Given the description of an element on the screen output the (x, y) to click on. 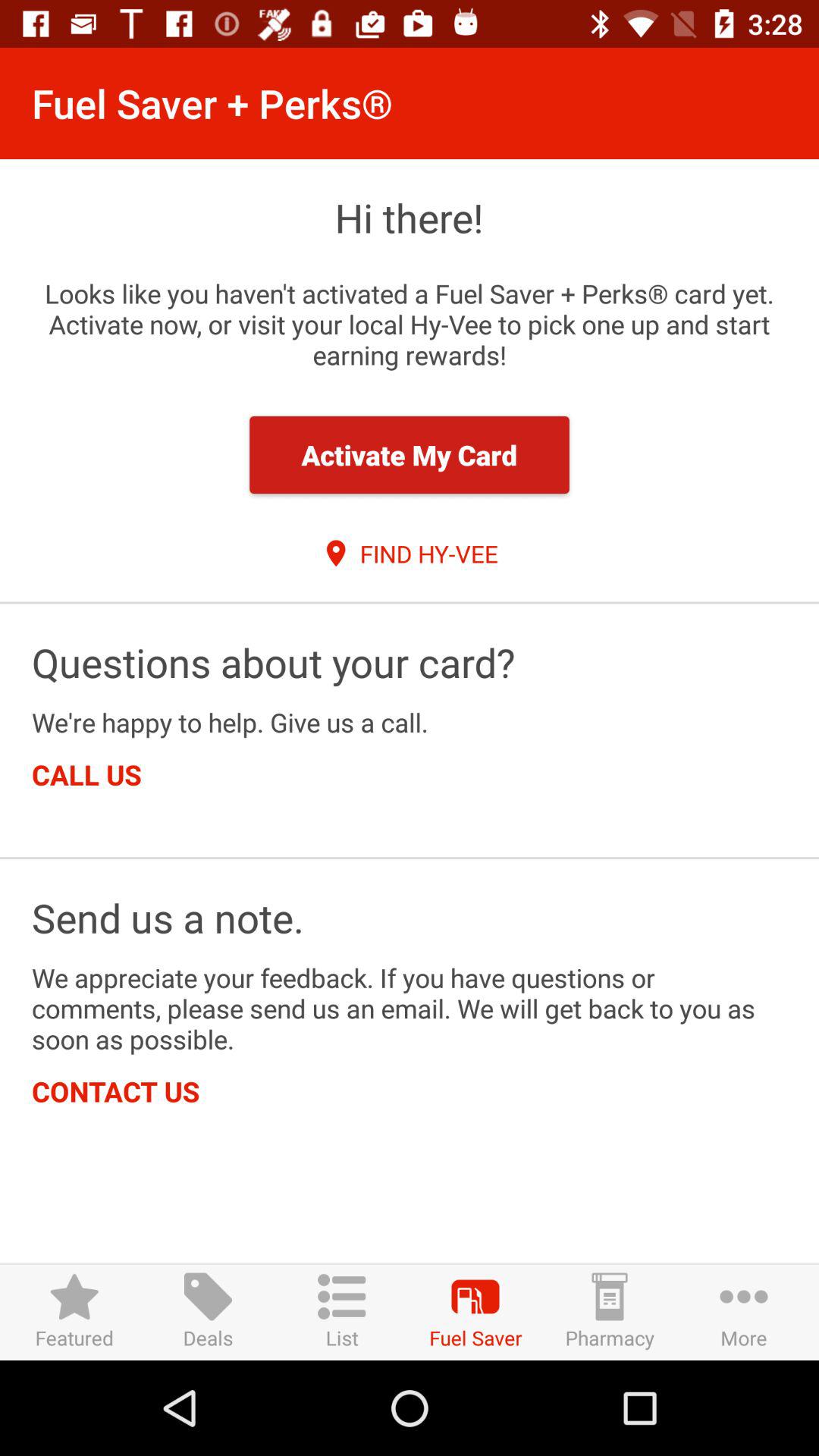
scroll until the more (743, 1311)
